Given the description of an element on the screen output the (x, y) to click on. 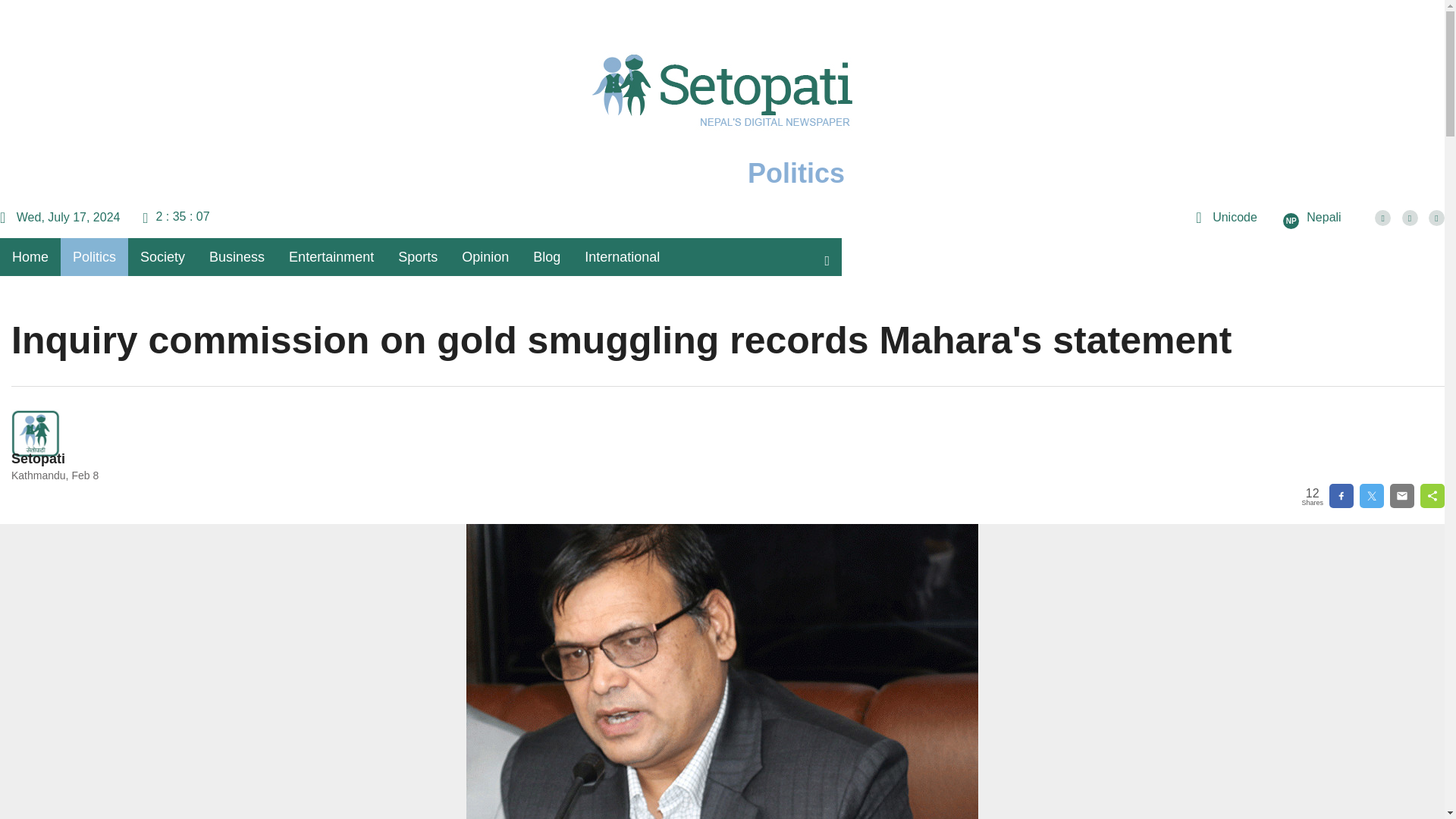
International (621, 257)
Entertainment (330, 257)
Setopati:Nepal's Digital News Paper (721, 115)
Opinion (485, 257)
Sports (417, 257)
Blog (546, 257)
Entertainment (330, 257)
Blog (546, 257)
Business (236, 257)
Sports (417, 257)
Unicode (1225, 216)
Like us on Facebook (1382, 217)
International (621, 257)
Subscribe YouTube Channel (1436, 217)
Society (162, 257)
